Given the description of an element on the screen output the (x, y) to click on. 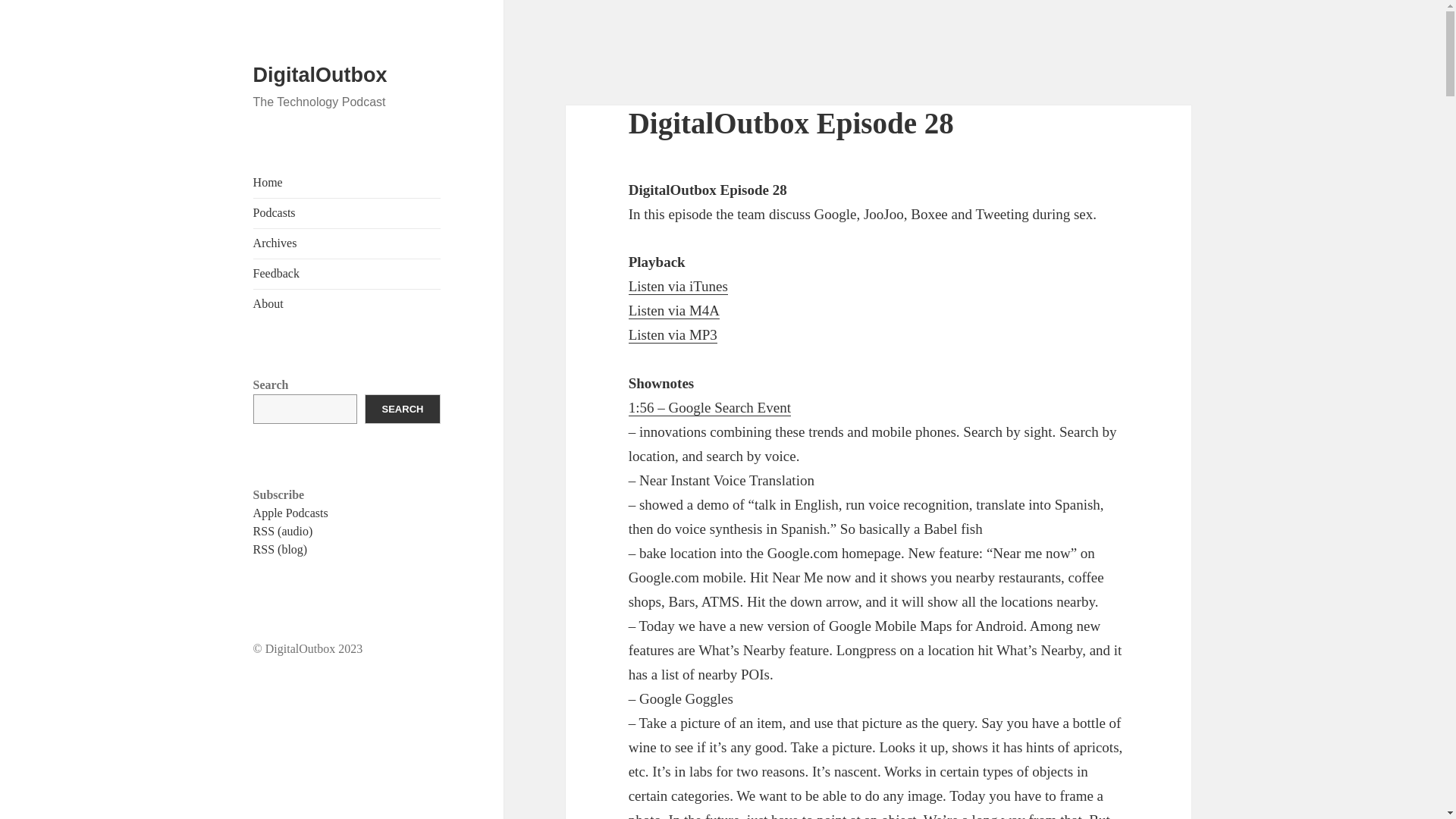
DigitalOutbox (320, 74)
Archives (275, 242)
Listen via M4A (673, 310)
Listen via iTunes (678, 286)
SEARCH (403, 408)
Home (267, 182)
Listen via MP3 (672, 334)
About (268, 303)
Podcasts (274, 212)
Apple Podcasts (291, 512)
